Given the description of an element on the screen output the (x, y) to click on. 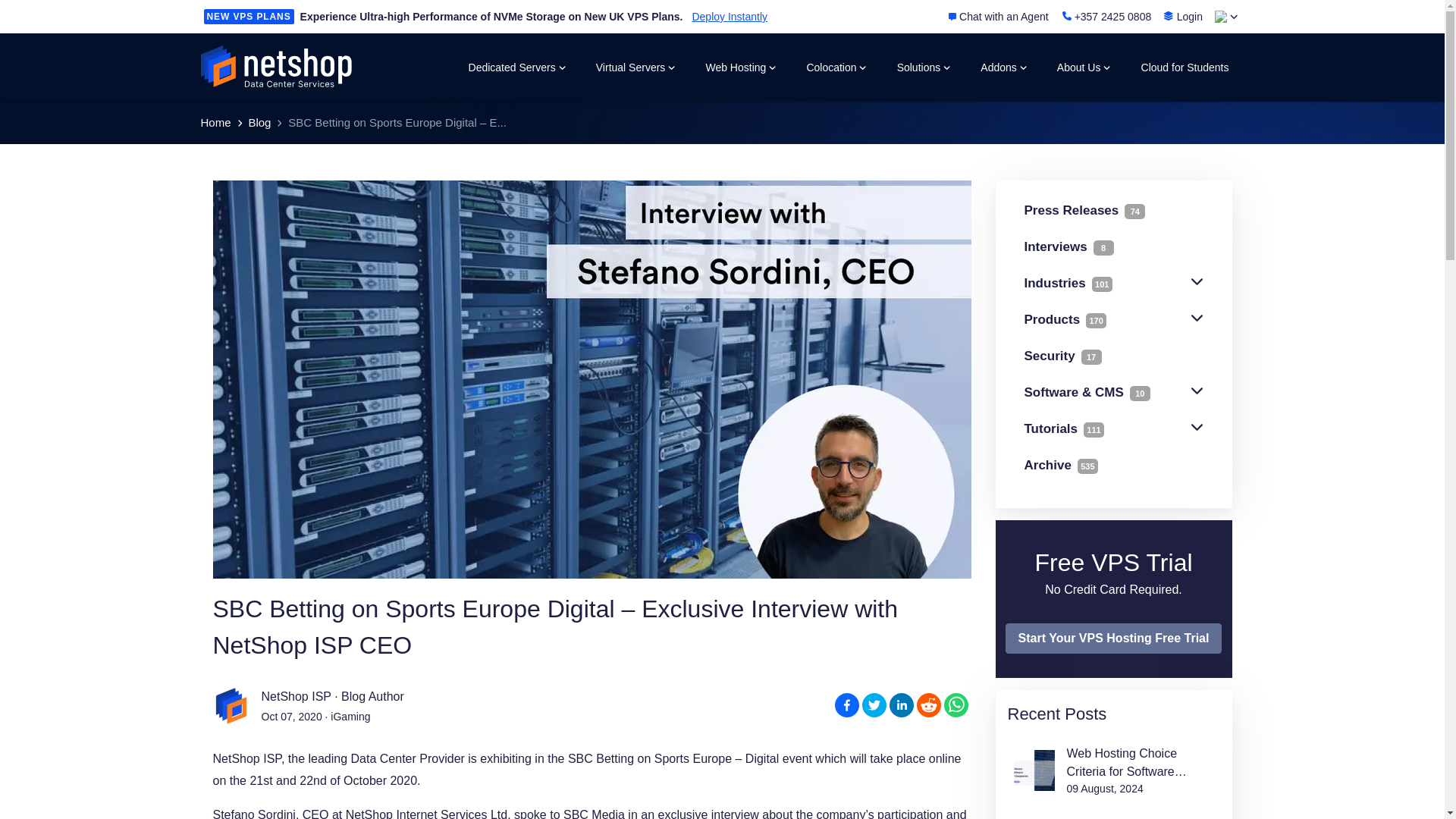
Login (1182, 15)
Deploy Instantly (729, 16)
Chat with an Agent (997, 16)
English (1220, 16)
Deploy Instantly (729, 16)
